Given the description of an element on the screen output the (x, y) to click on. 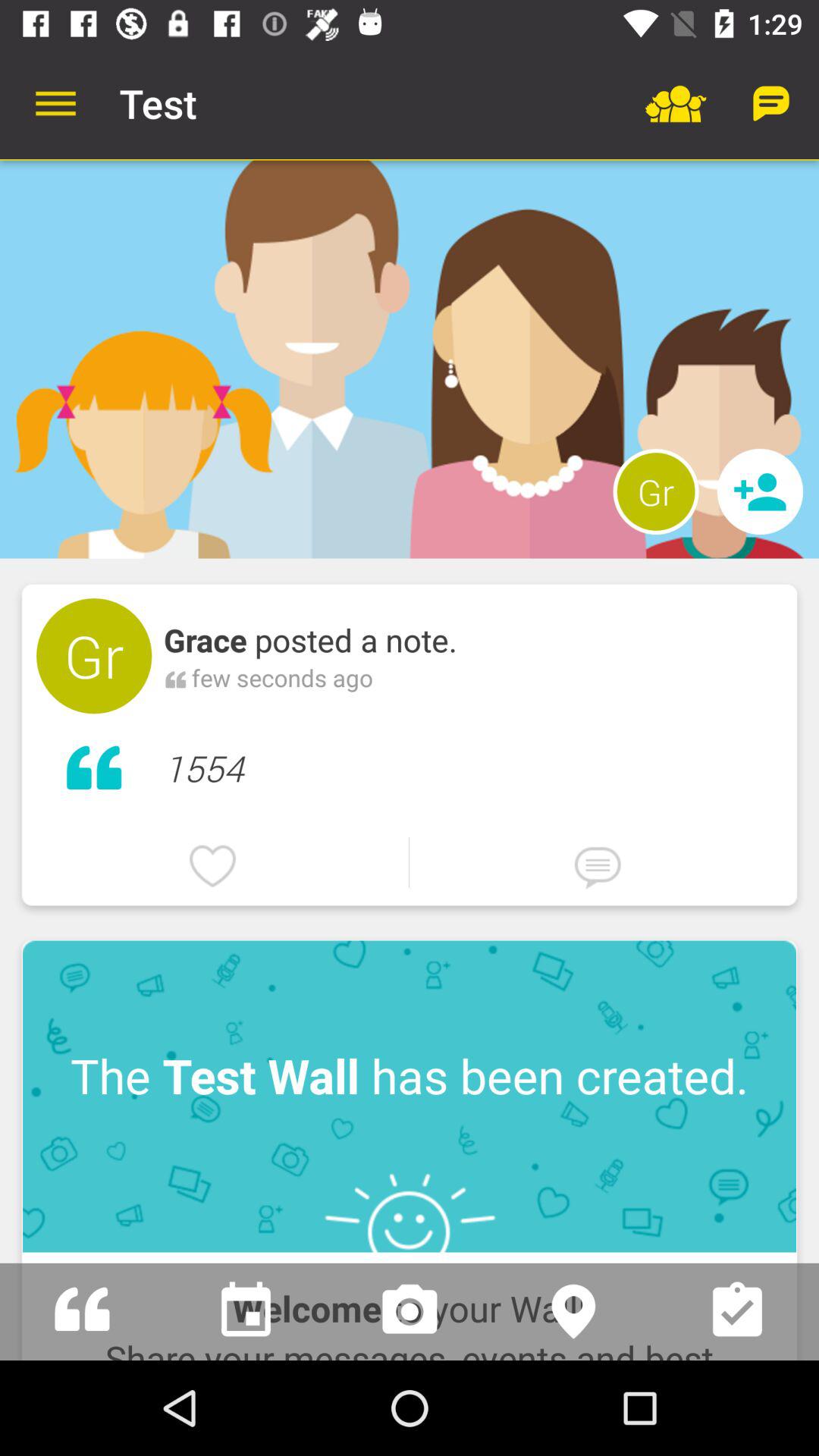
scroll to few seconds ago icon (282, 677)
